Given the description of an element on the screen output the (x, y) to click on. 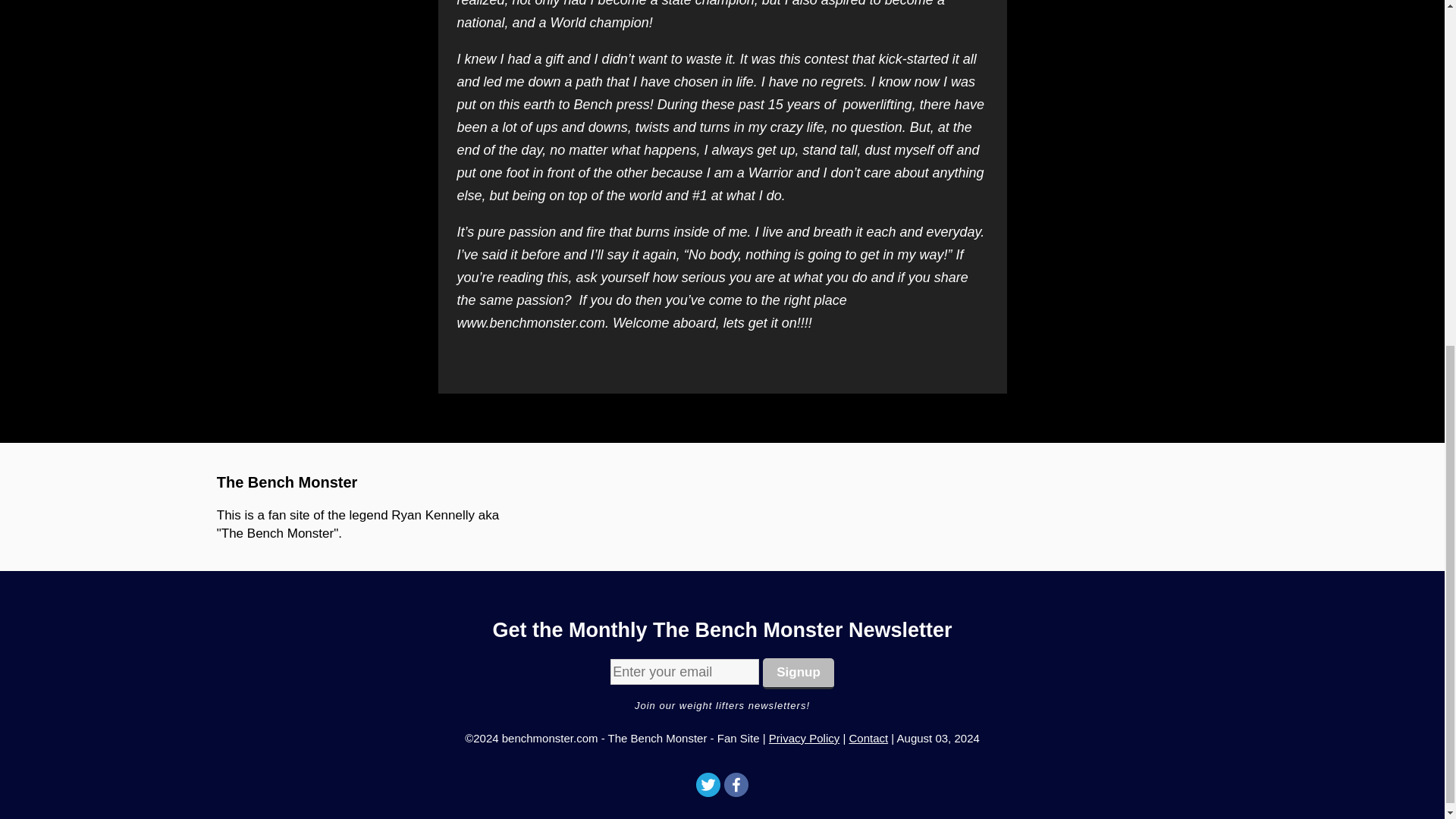
Contact (868, 738)
Signup (798, 673)
Privacy Policy (804, 738)
Signup (798, 673)
